Given the description of an element on the screen output the (x, y) to click on. 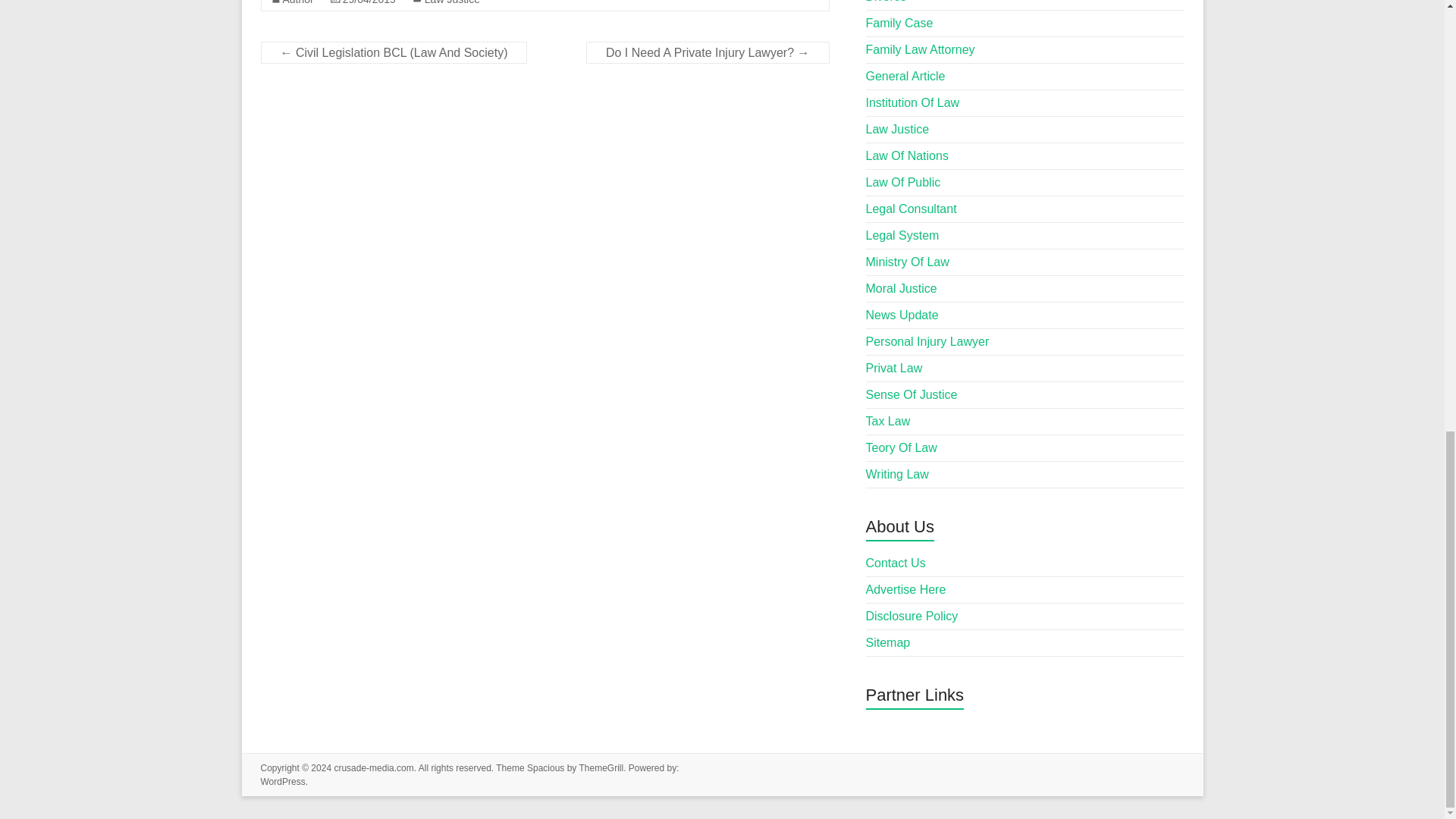
Law Justice (452, 2)
WordPress (282, 781)
Author (297, 2)
Spacious (545, 767)
crusade-media.com (373, 767)
17:41 (369, 2)
